Given the description of an element on the screen output the (x, y) to click on. 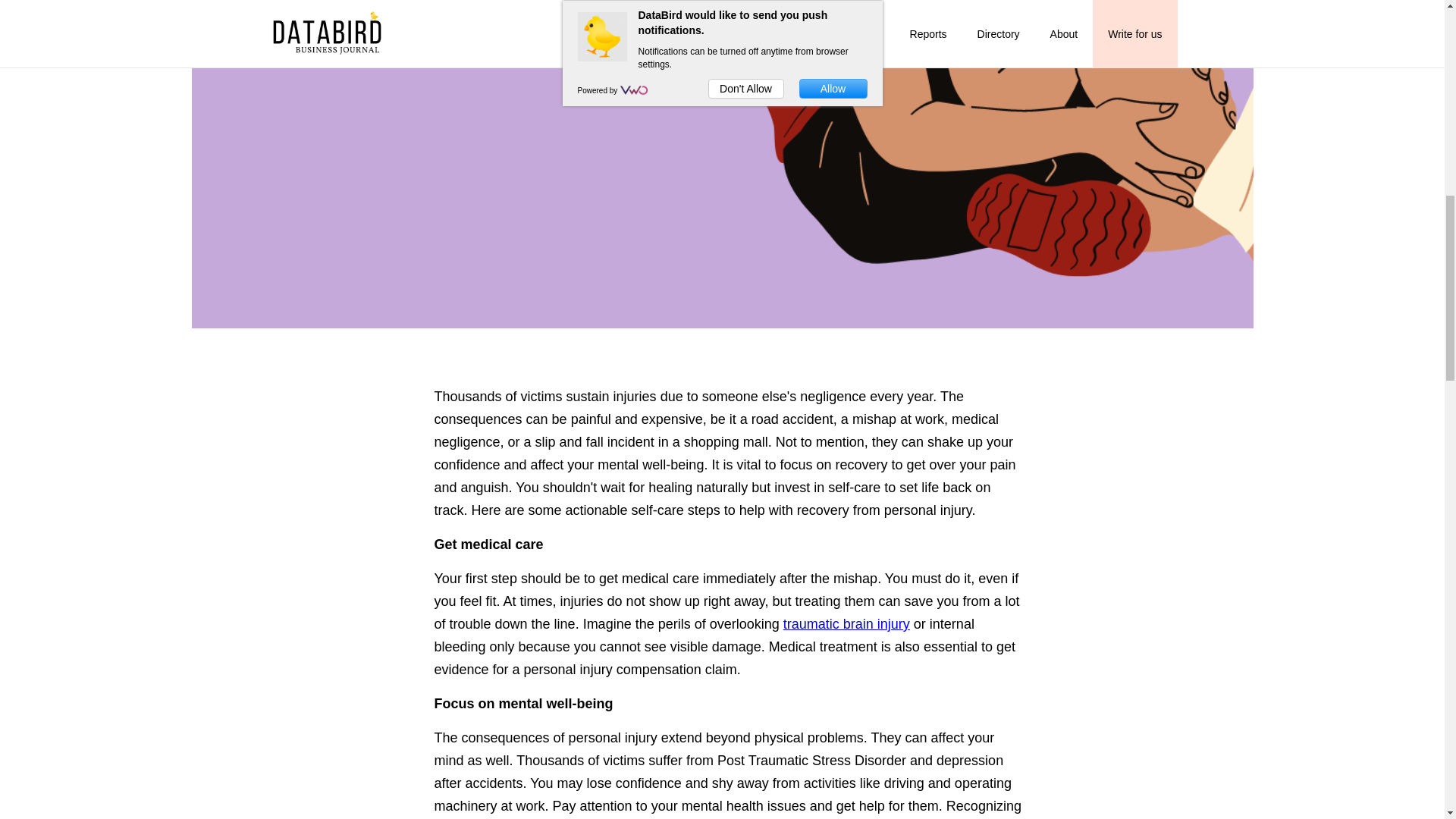
traumatic brain injury (846, 623)
